Given the description of an element on the screen output the (x, y) to click on. 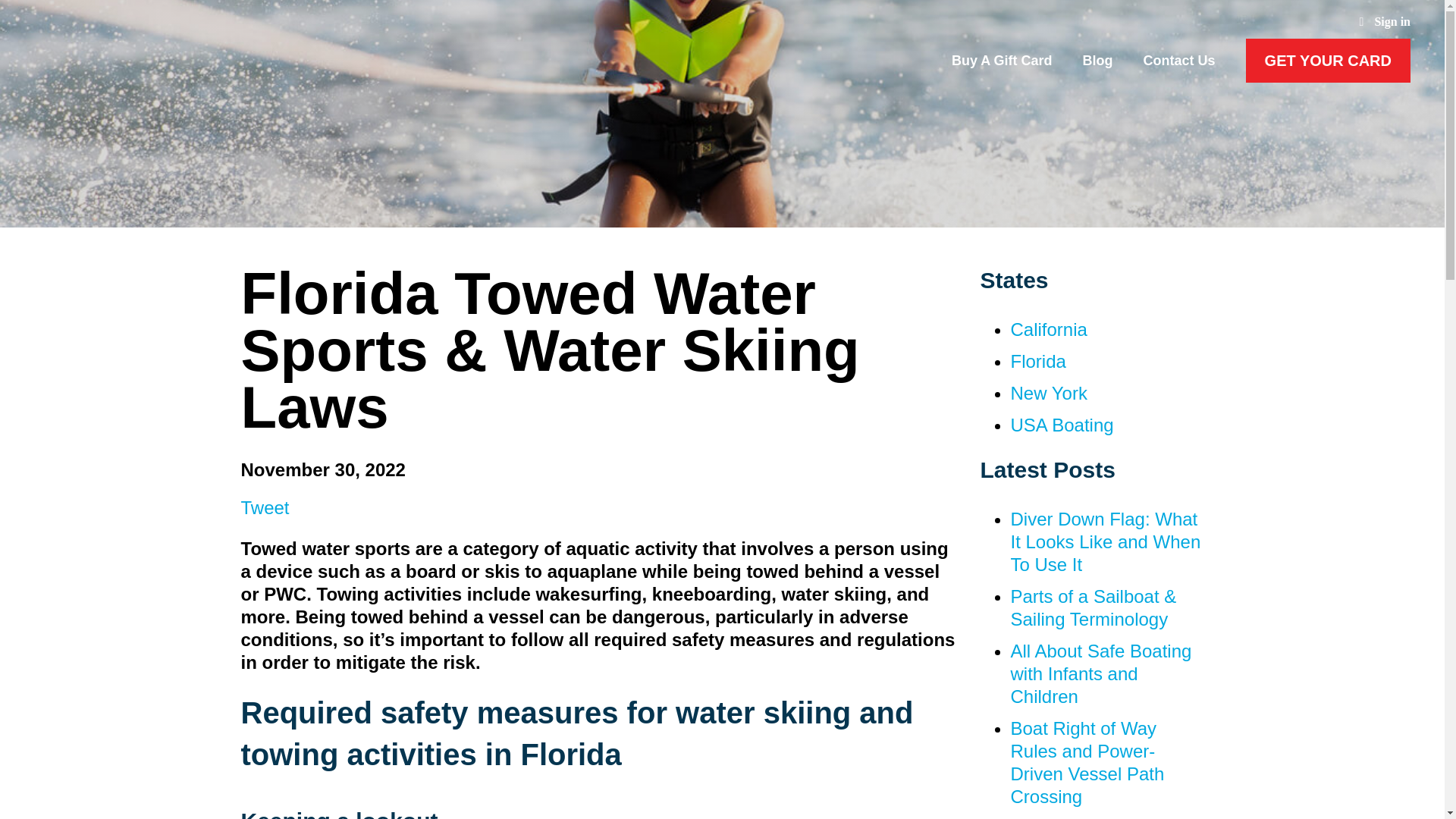
Sign in (1384, 21)
GET YOUR CARD (1328, 60)
Blog (1098, 60)
New York (1048, 393)
USA Boating (1061, 424)
Diver Down Flag: What It Looks Like and When To Use It (1104, 541)
All About Safe Boating with Infants and Children (1100, 673)
Tweet (265, 507)
